Given the description of an element on the screen output the (x, y) to click on. 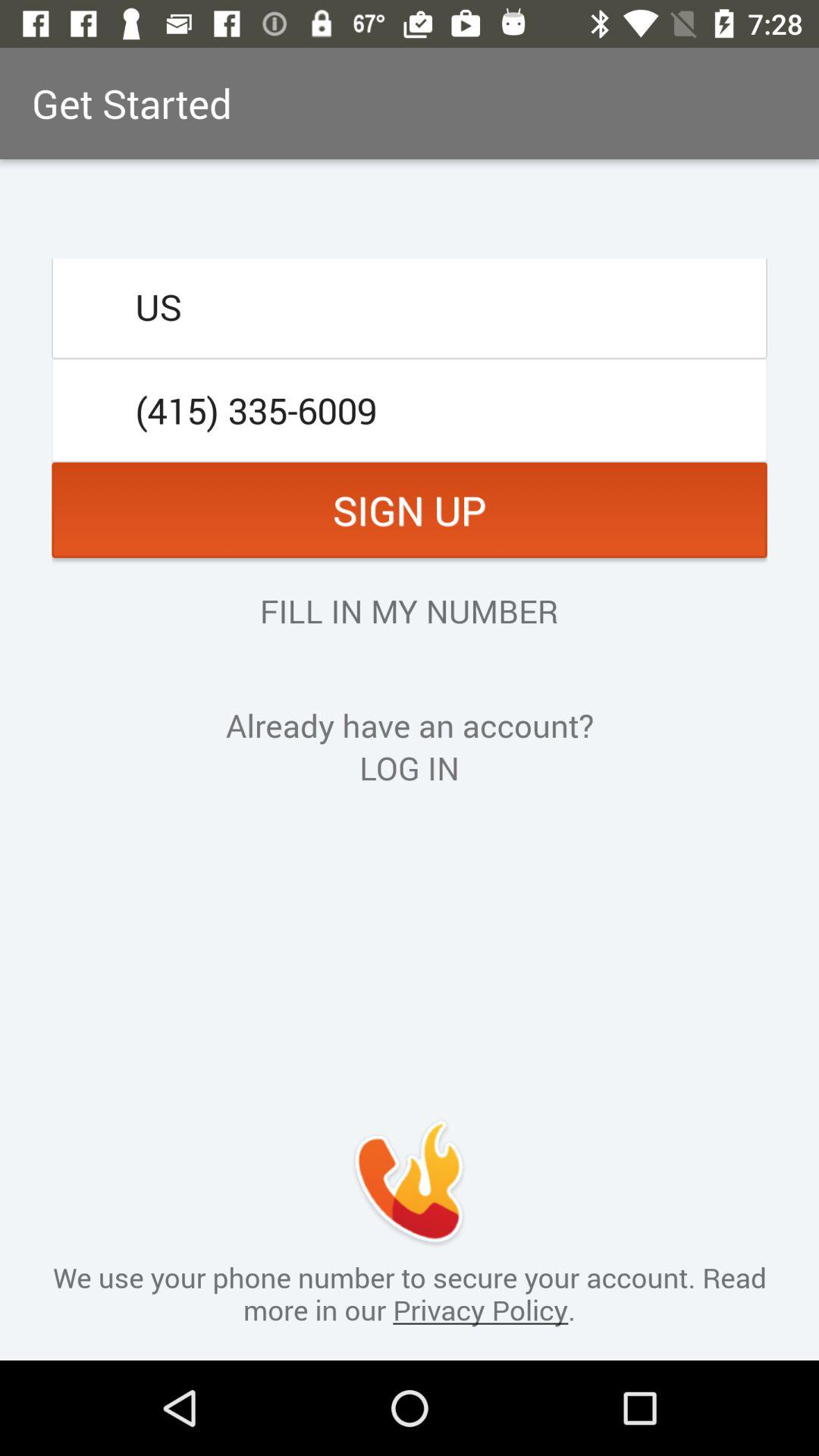
launch the item below the sign up item (408, 610)
